Given the description of an element on the screen output the (x, y) to click on. 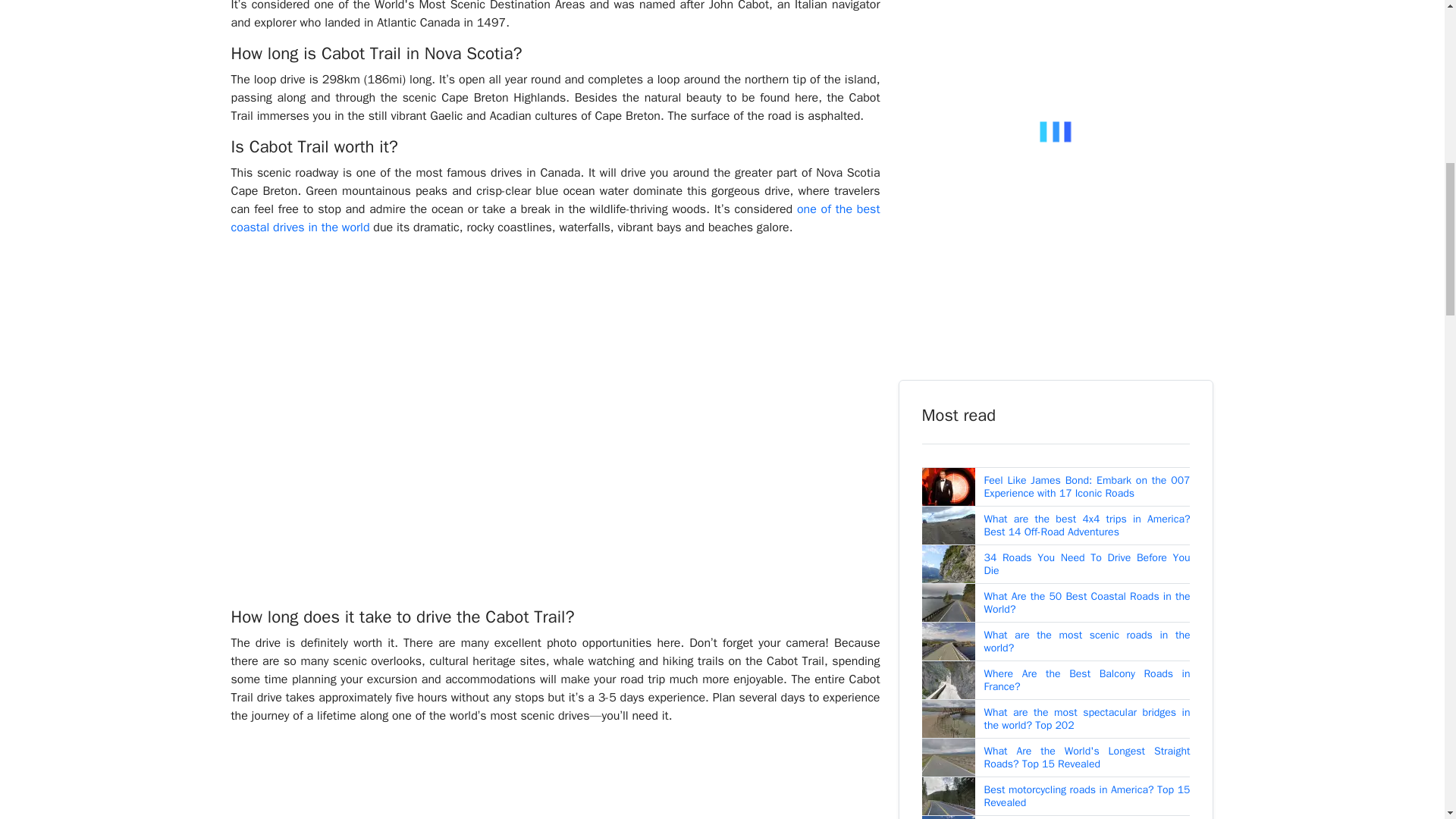
What Are the 50 Best Coastal Roads in the World? (1087, 602)
Best motorcycling roads in America? Top 15 Revealed (1087, 795)
YouTube video player (554, 778)
Where Are the Best Balcony Roads in France? (1087, 680)
What are the most scenic roads in the world? (1087, 641)
one of the best coastal drives in the world (554, 218)
What Are the World's Longest Straight Roads? Top 15 Revealed (1087, 757)
34 Roads You Need To Drive Before You Die (1087, 564)
